Given the description of an element on the screen output the (x, y) to click on. 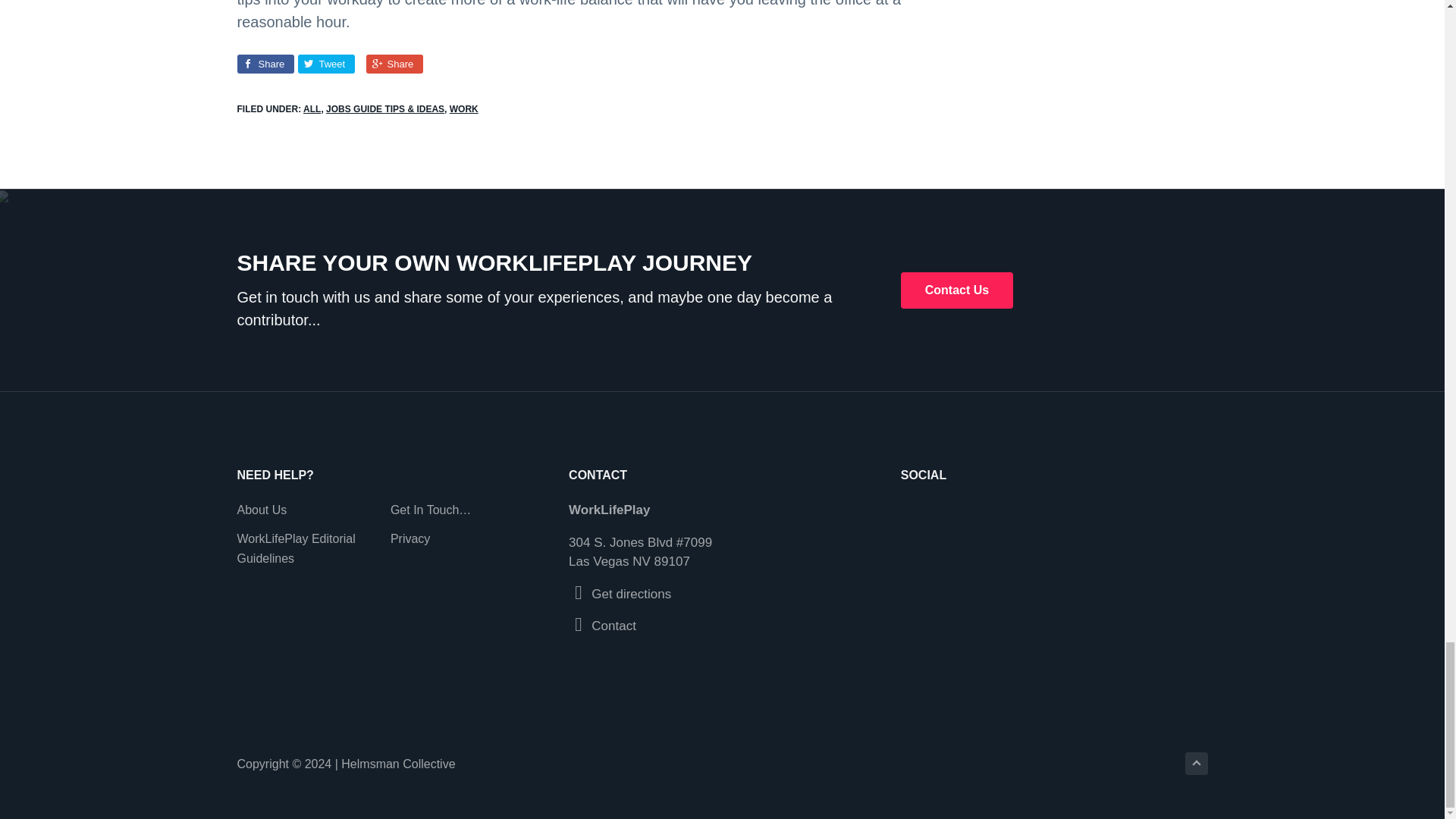
Tweet (325, 63)
WORK (464, 109)
Share (264, 63)
ALL (311, 109)
Share (393, 63)
